Given the description of an element on the screen output the (x, y) to click on. 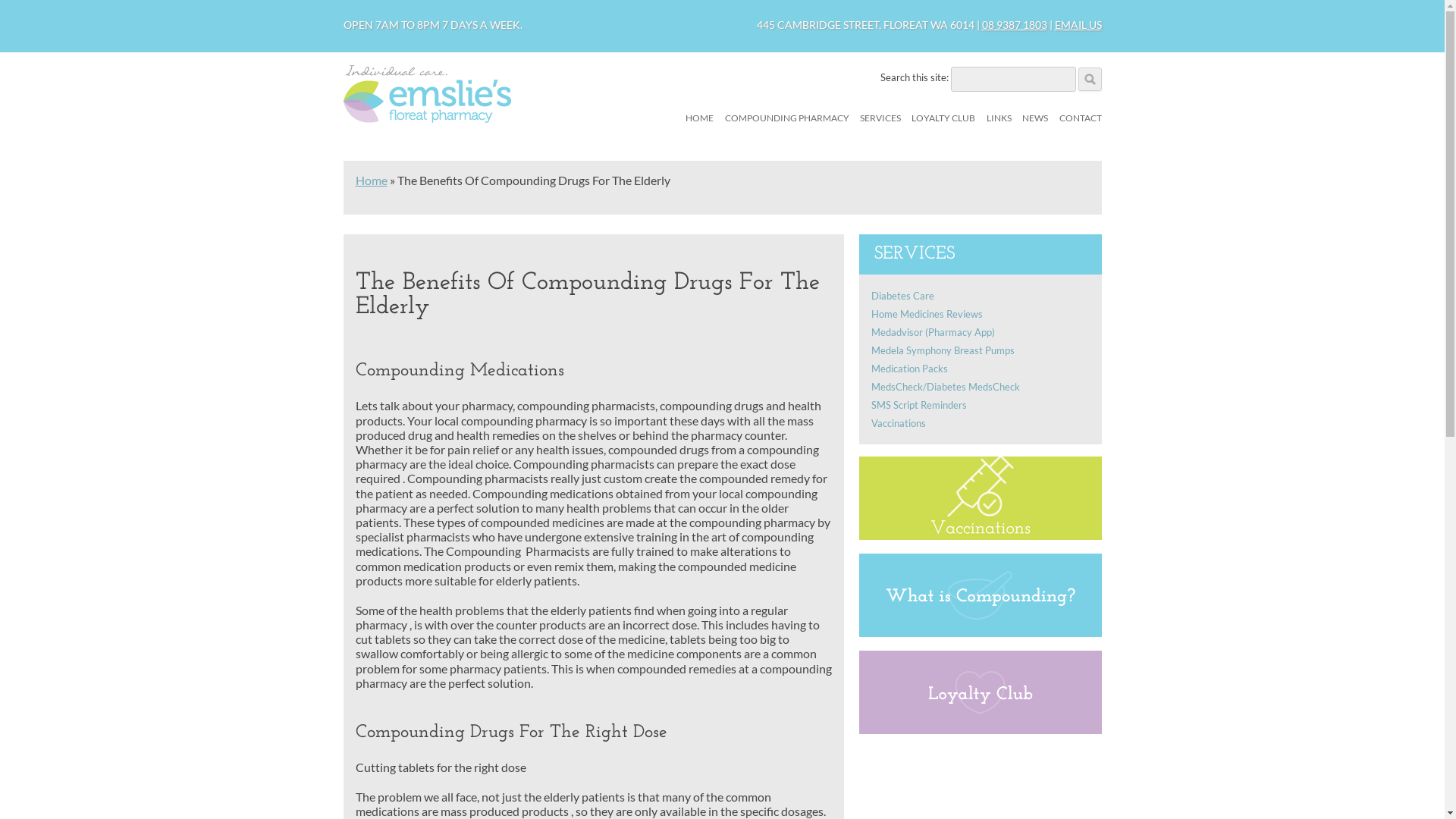
LINKS Element type: text (998, 117)
MedsCheck/Diabetes MedsCheck Element type: text (944, 386)
08 9387 1803 Element type: text (1013, 24)
Vaccinations Element type: text (897, 423)
WHAT IS PHARMACY COMPOUNDING? Element type: text (800, 173)
VACCINATIONS Element type: text (935, 164)
Medadvisor (Pharmacy App) Element type: text (932, 332)
EMAIL US Element type: text (1077, 24)
HOME Element type: text (699, 117)
Diabetes Care Element type: text (901, 295)
Home Element type: text (370, 179)
Home Medicines Reviews Element type: text (926, 313)
Medela Symphony Breast Pumps Element type: text (941, 350)
COMPOUNDING PHARMACY Element type: text (786, 117)
CONTACT Element type: text (1079, 117)
SERVICES Element type: text (879, 117)
NEWS Element type: text (1035, 117)
LOYALTY CLUB Element type: text (943, 117)
Medication Packs Element type: text (908, 368)
SMS Script Reminders Element type: text (918, 404)
